Given the description of an element on the screen output the (x, y) to click on. 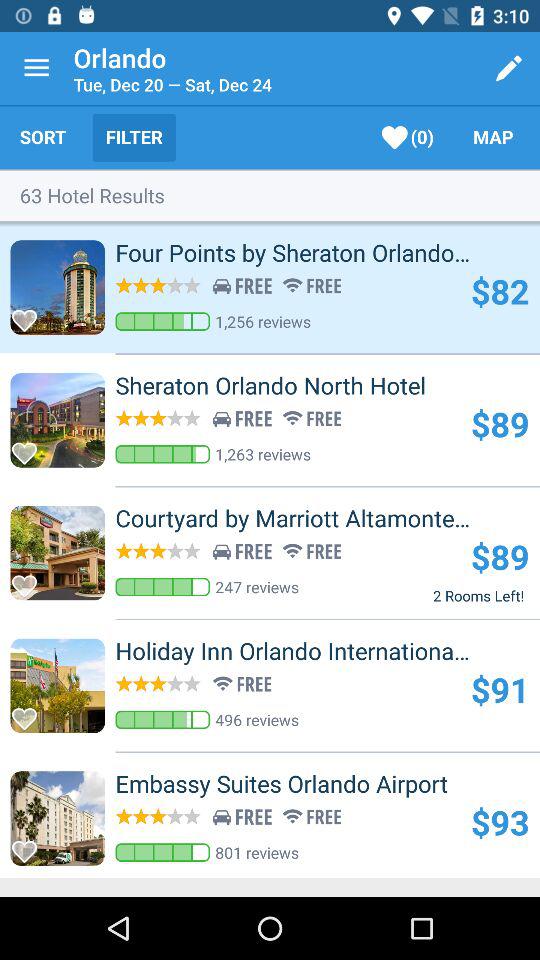
select the icon above the holiday inn orlando item (478, 595)
